Given the description of an element on the screen output the (x, y) to click on. 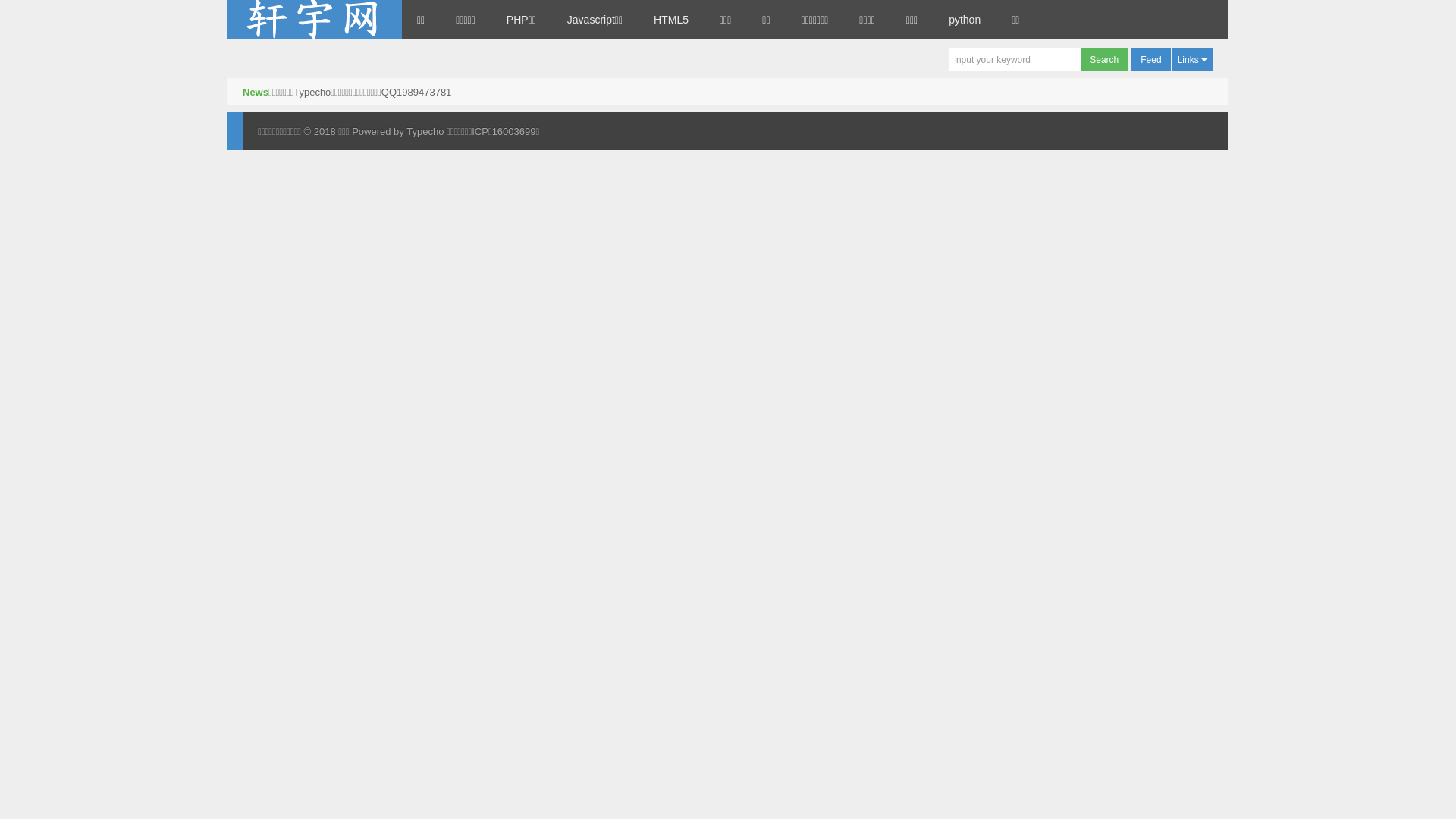
Feed Element type: text (1150, 58)
Links Element type: text (1192, 58)
Powered by Typecho Element type: text (397, 131)
Search Element type: text (1103, 58)
python Element type: text (964, 19)
HTML5 Element type: text (670, 19)
